Given the description of an element on the screen output the (x, y) to click on. 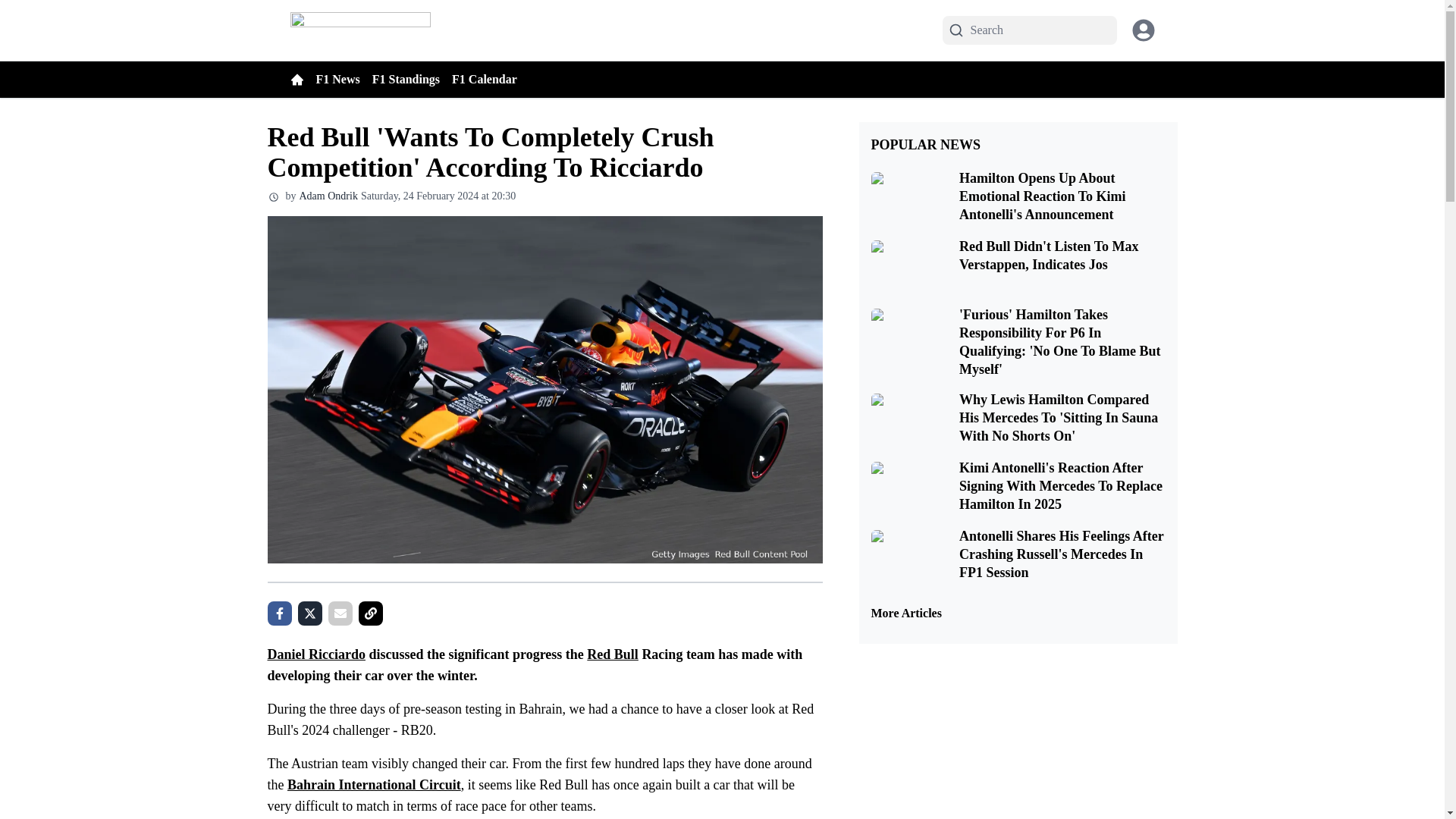
home (295, 79)
Share with Email (339, 613)
Red Bull (612, 654)
More Articles (1017, 613)
Copy to Clipboard (369, 613)
F1 News (343, 78)
Daniel Ricciardo (315, 654)
website logo (359, 30)
